Given the description of an element on the screen output the (x, y) to click on. 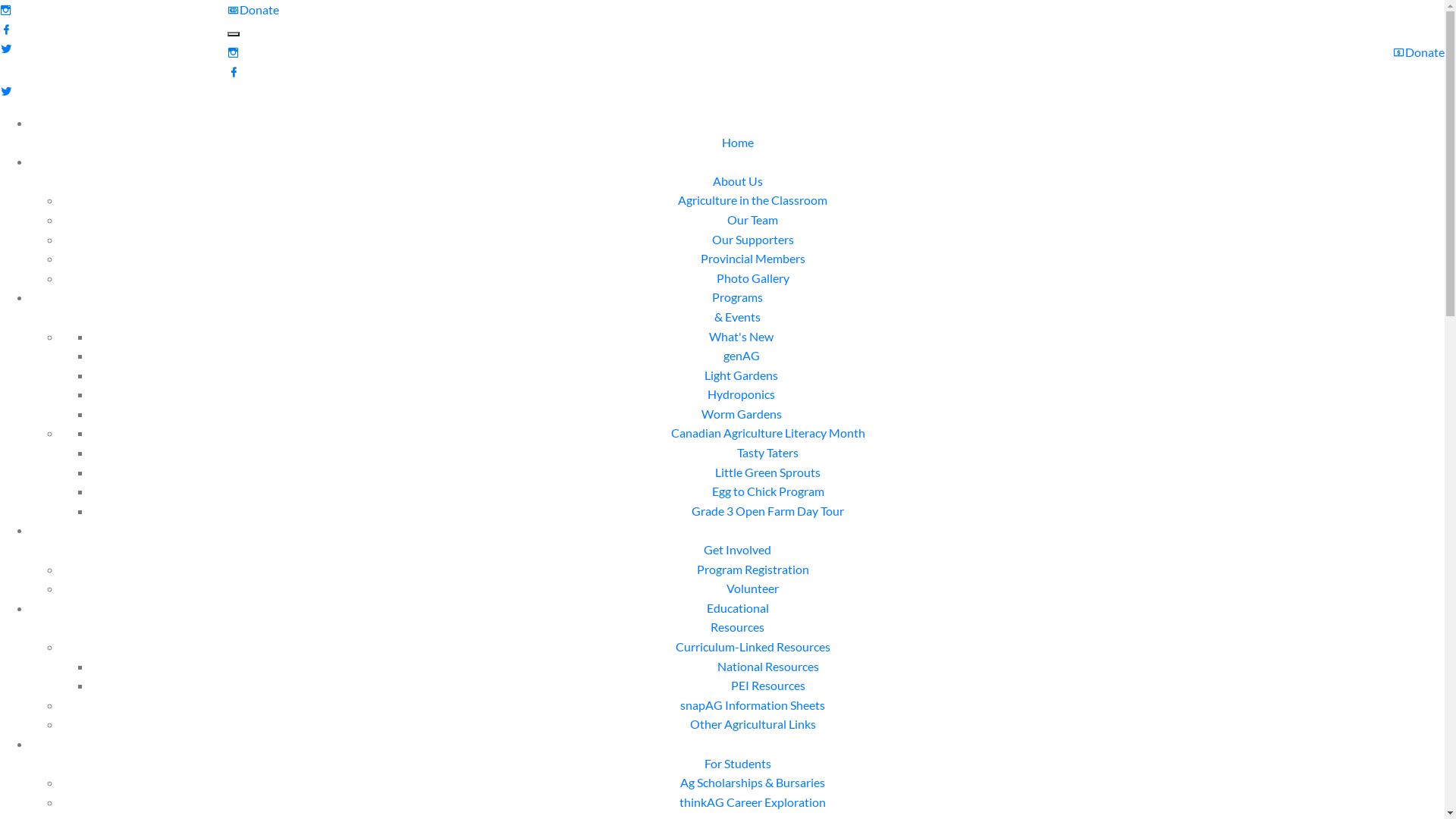
Little Green Sprouts Element type: text (767, 471)
Program Registration Element type: text (752, 568)
Canadian Agriculture Literacy Month Element type: text (767, 432)
Home Element type: text (737, 151)
snapAG Information Sheets Element type: text (752, 704)
Ag Scholarships & Bursaries Element type: text (752, 782)
Tasty Taters Element type: text (767, 452)
Light Gardens Element type: text (741, 374)
genAG Element type: text (741, 355)
Educational
Resources Element type: text (737, 617)
National Resources Element type: text (768, 665)
Agriculture in the Classroom Element type: text (752, 199)
Hydroponics Element type: text (741, 393)
Provincial Members Element type: text (752, 258)
Donate Element type: text (1418, 52)
Grade 3 Open Farm Day Tour Element type: text (767, 510)
PEI Resources Element type: text (768, 684)
Worm Gardens Element type: text (740, 413)
Curriculum-Linked Resources Element type: text (751, 646)
thinkAG Career Exploration Element type: text (752, 801)
Programs
& Events Element type: text (737, 306)
Get Involved Element type: text (737, 559)
About Us Element type: text (737, 190)
Photo Gallery Element type: text (751, 277)
Other Agricultural Links Element type: text (752, 723)
What's New Element type: text (741, 336)
For Students Element type: text (736, 773)
Donate Element type: text (253, 9)
Our Supporters Element type: text (752, 239)
Our Team Element type: text (752, 219)
Volunteer Element type: text (752, 587)
Egg to Chick Program Element type: text (767, 490)
